Given the description of an element on the screen output the (x, y) to click on. 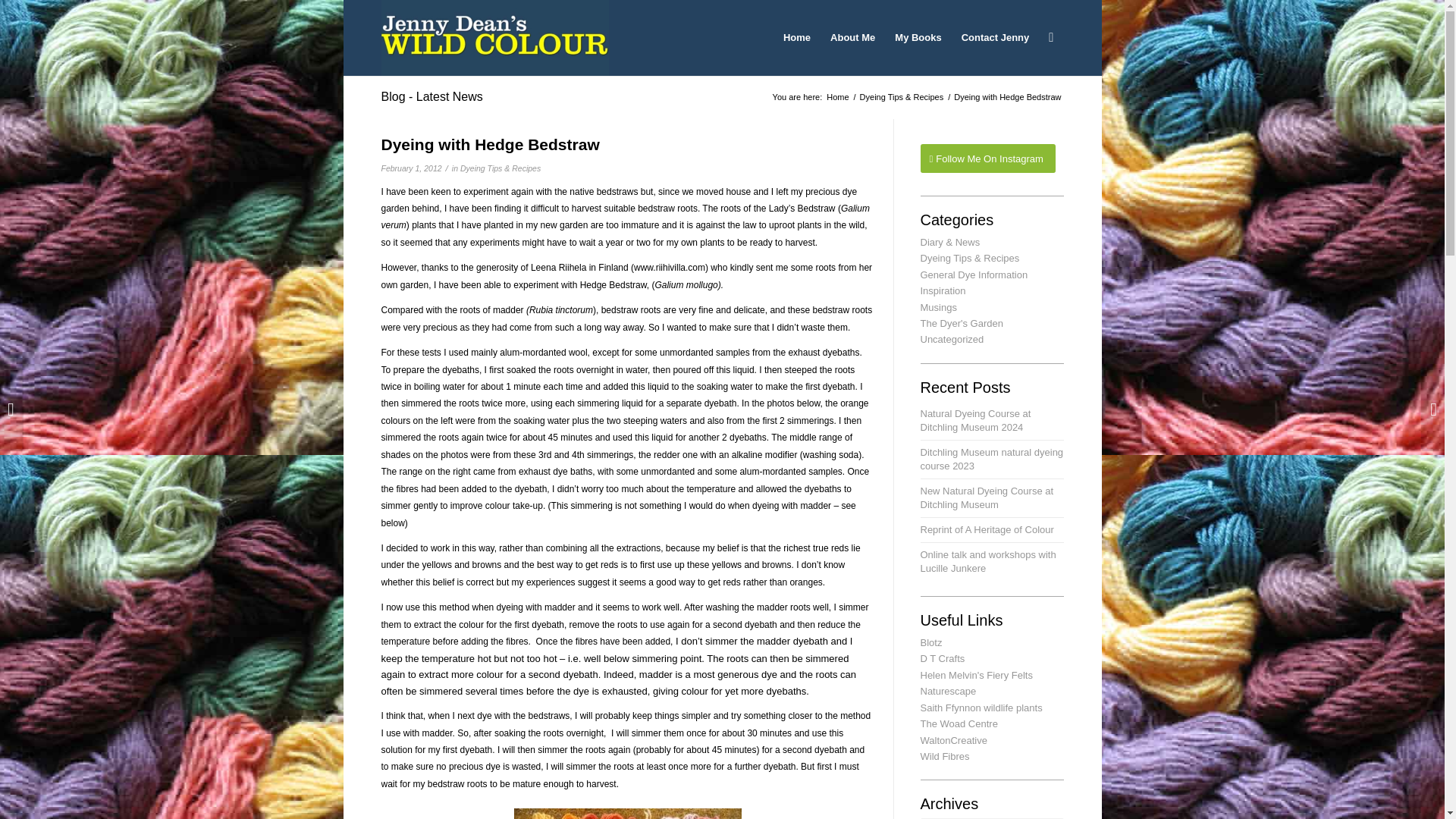
Permanent Link: Blog - Latest News (430, 96)
Blog - Latest News (430, 96)
077 (627, 809)
